Given the description of an element on the screen output the (x, y) to click on. 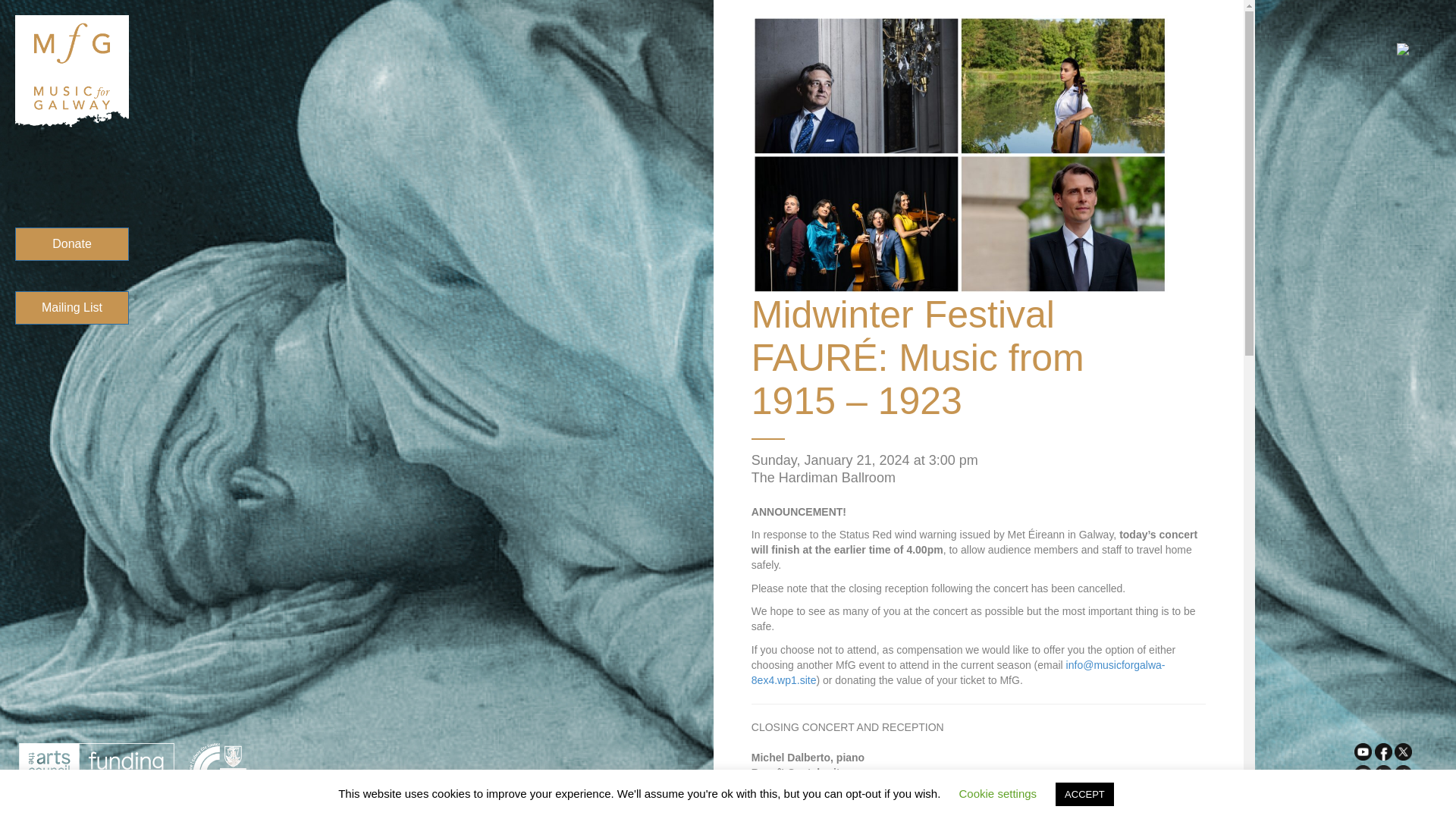
Sun 3pm (960, 154)
YT 50 (1362, 751)
FB 50 (1382, 751)
Twitter 50 (1382, 773)
Twitter 50 (1403, 773)
Twitter 50 (1403, 751)
Insta 50 (1362, 773)
